Given the description of an element on the screen output the (x, y) to click on. 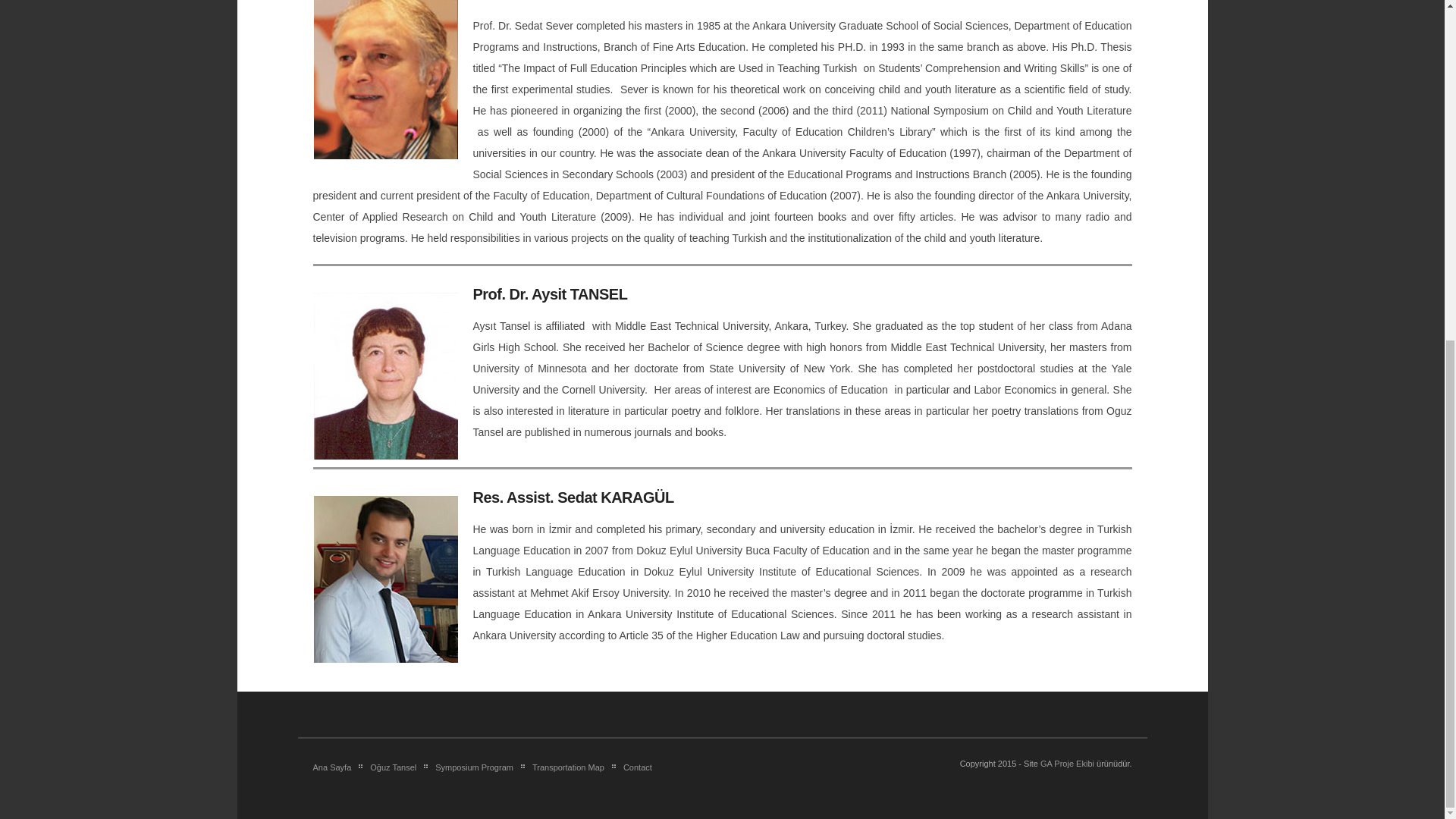
Transportation Map (566, 767)
GA Proje Ekibi (1067, 763)
Ana Sayfa (335, 767)
Symposium Program (472, 767)
Contact (635, 767)
